Given the description of an element on the screen output the (x, y) to click on. 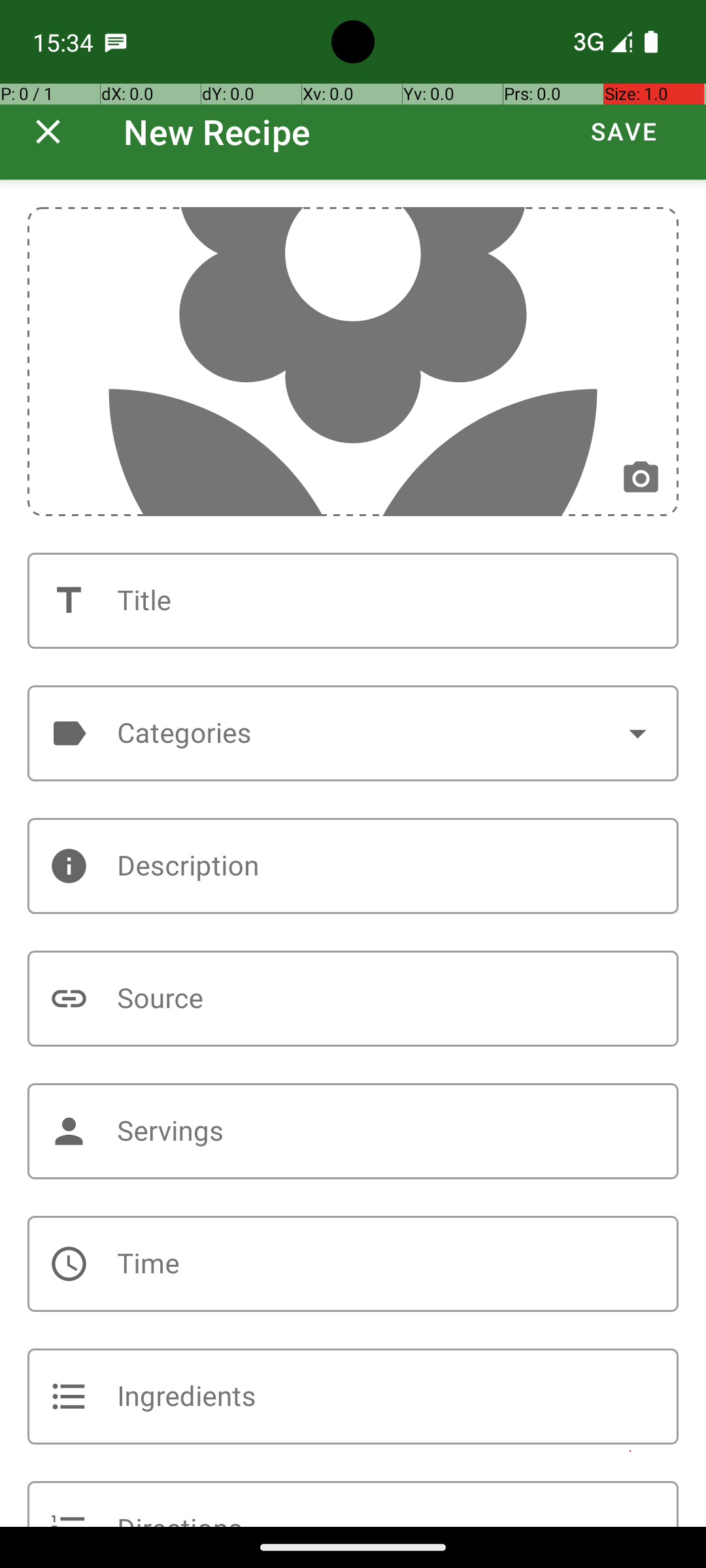
Change photo Element type: android.widget.ImageView (640, 478)
Title Element type: android.widget.EditText (352, 600)
Description Element type: android.widget.EditText (352, 865)
Source Element type: android.widget.EditText (352, 998)
